Given the description of an element on the screen output the (x, y) to click on. 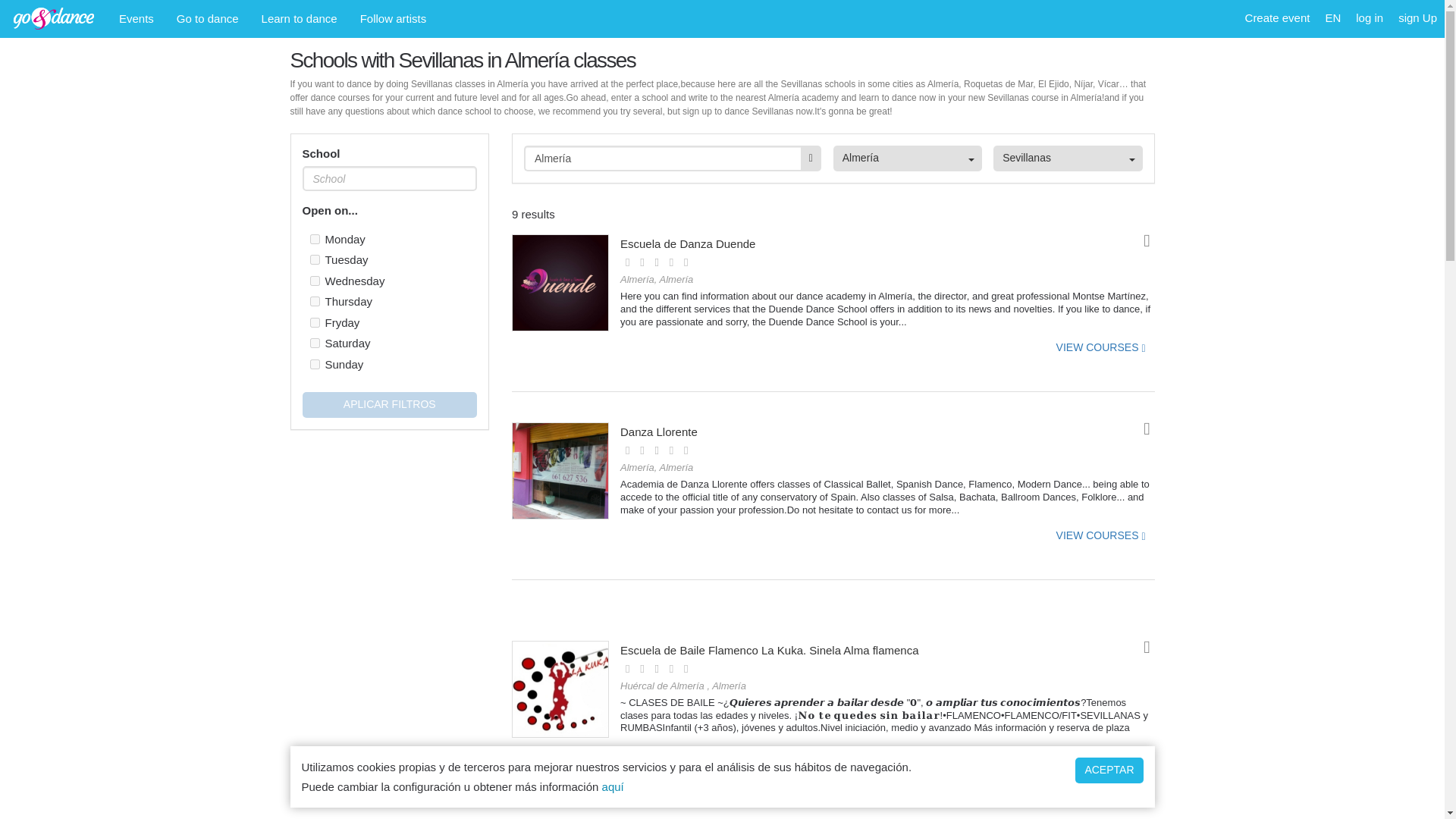
log in (1369, 18)
1 (313, 259)
6 (313, 364)
Follow artists (393, 18)
Go to dance (207, 18)
3 (313, 301)
4 (313, 322)
Events (136, 18)
Learn to dance (299, 18)
Create event (1277, 18)
